Given the description of an element on the screen output the (x, y) to click on. 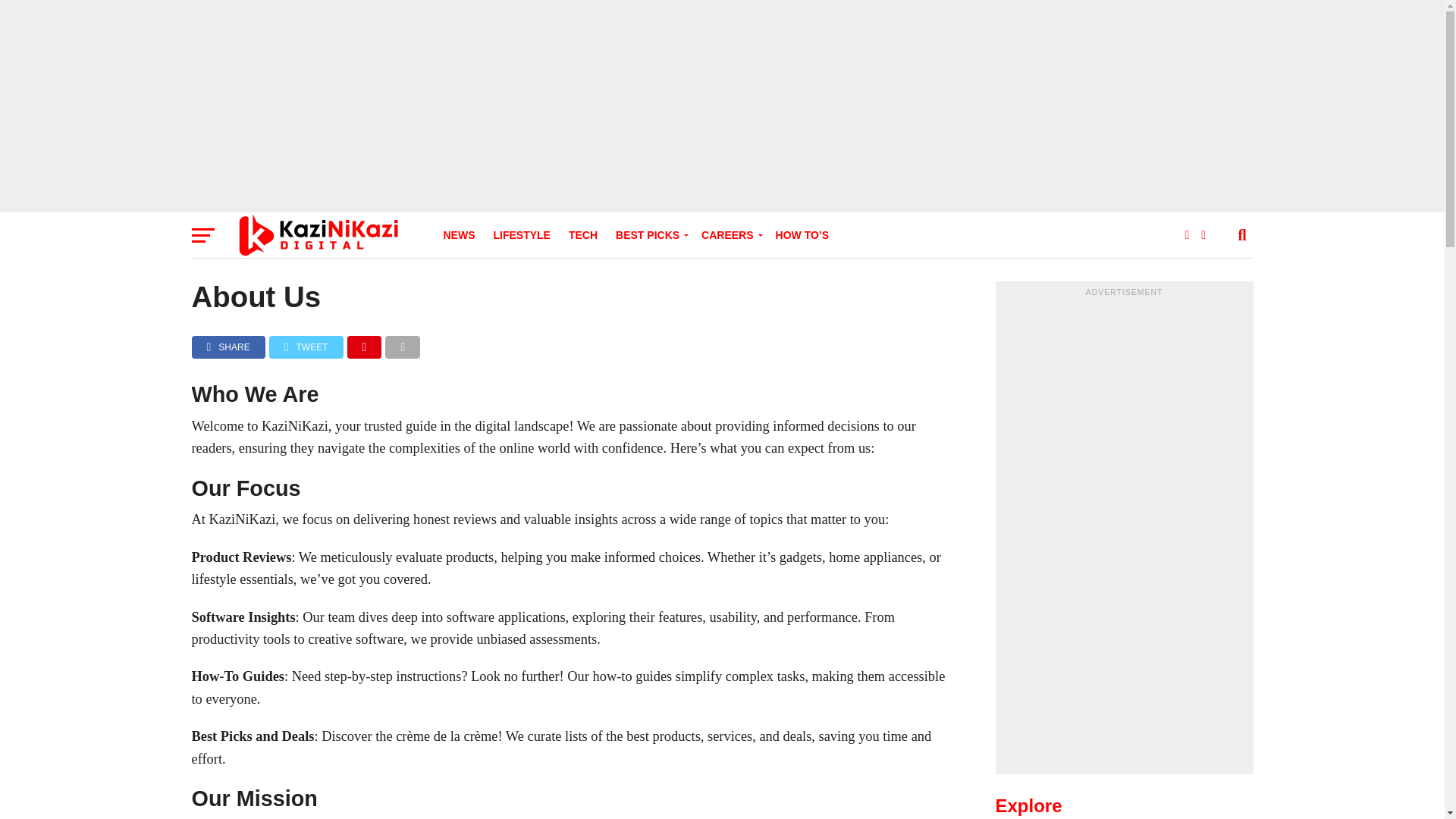
NEWS (458, 234)
BEST PICKS (650, 234)
LIFESTYLE (521, 234)
TECH (583, 234)
